Given the description of an element on the screen output the (x, y) to click on. 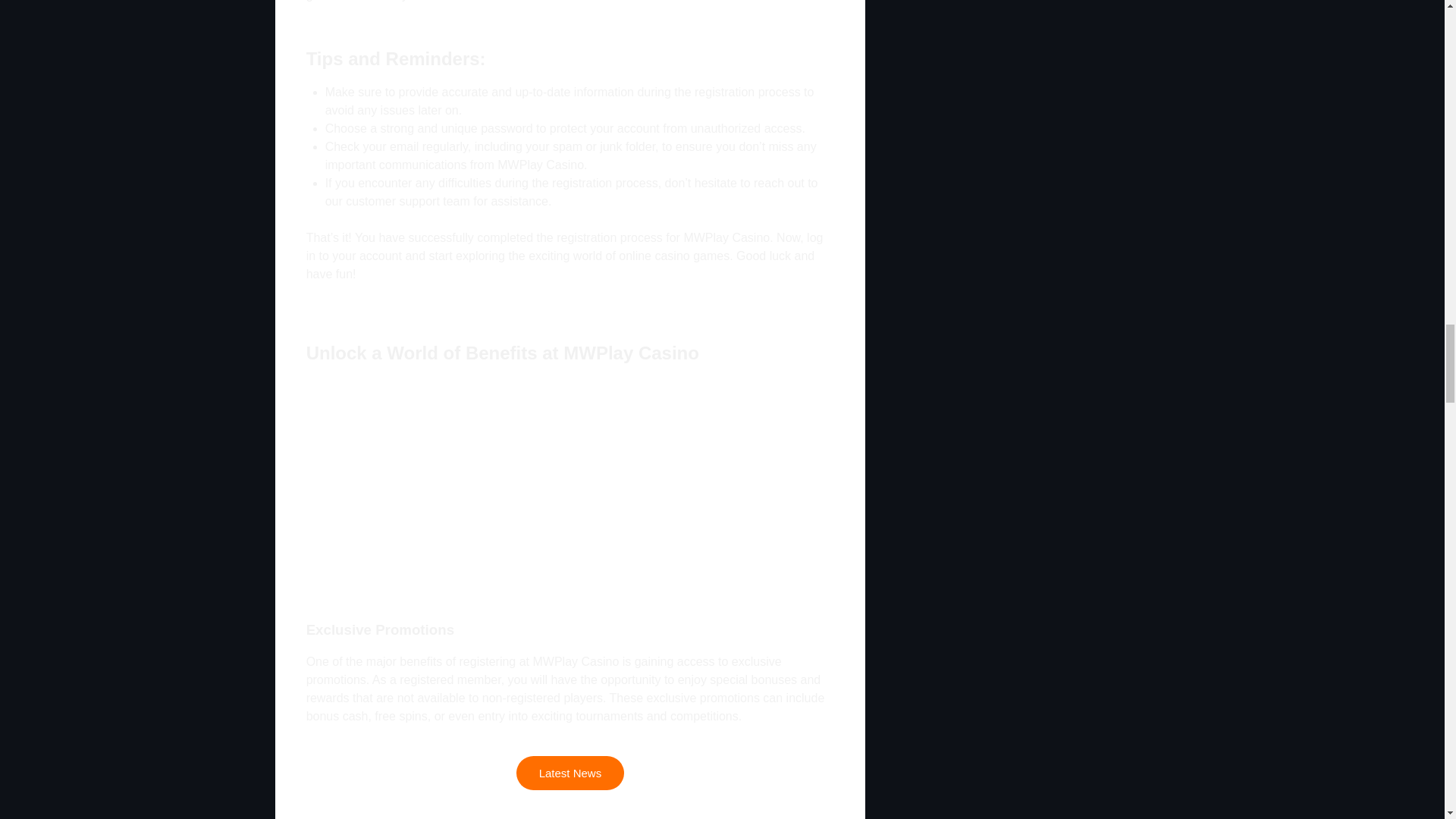
Latest News (570, 772)
